Given the description of an element on the screen output the (x, y) to click on. 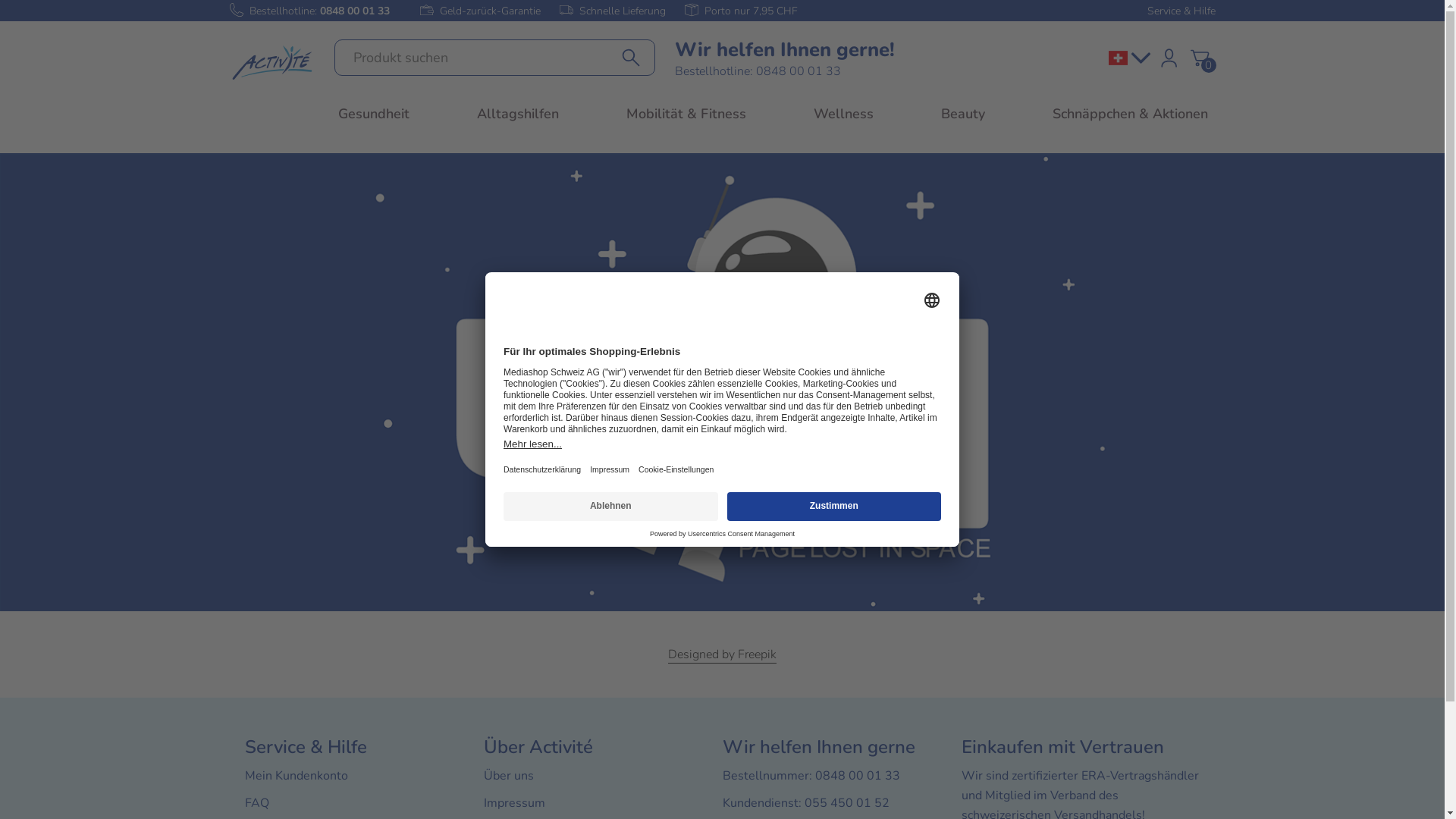
Gesundheit Element type: text (373, 113)
Designed by Freepik Element type: text (722, 654)
FAQ Element type: text (256, 802)
Alltagshilfen Element type: text (517, 113)
0848 00 01 33 Element type: text (352, 10)
Wellness Element type: text (843, 113)
Mein Kundenkonto Element type: text (295, 775)
Impressum Element type: text (514, 802)
0848 00 01 33 Element type: text (856, 775)
Beauty Element type: text (963, 113)
0 Element type: text (1199, 57)
Service & Hilfe Element type: text (1180, 10)
055 450 01 52 Element type: text (845, 802)
